Given the description of an element on the screen output the (x, y) to click on. 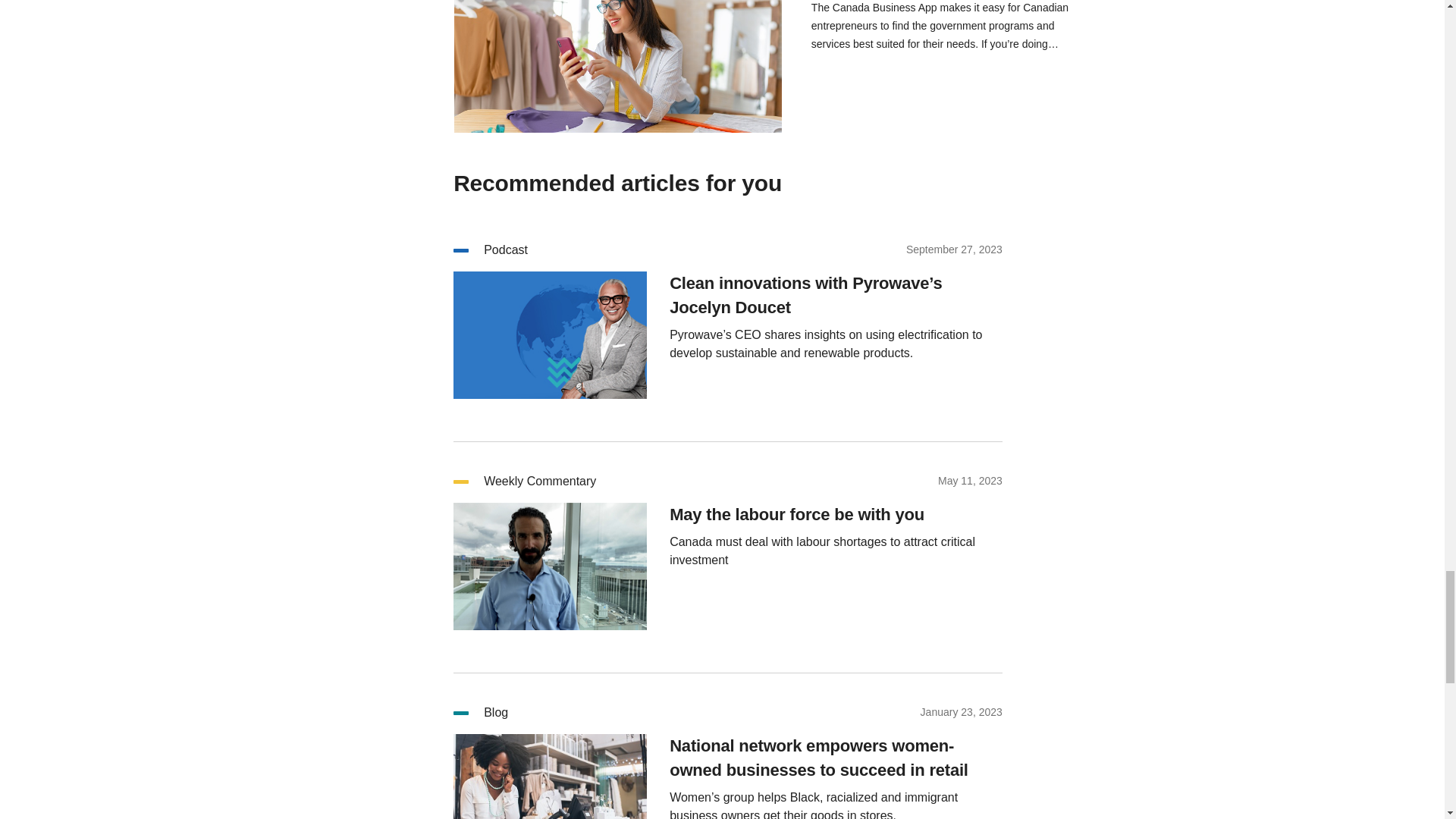
Opens in a new tab (617, 69)
